Given the description of an element on the screen output the (x, y) to click on. 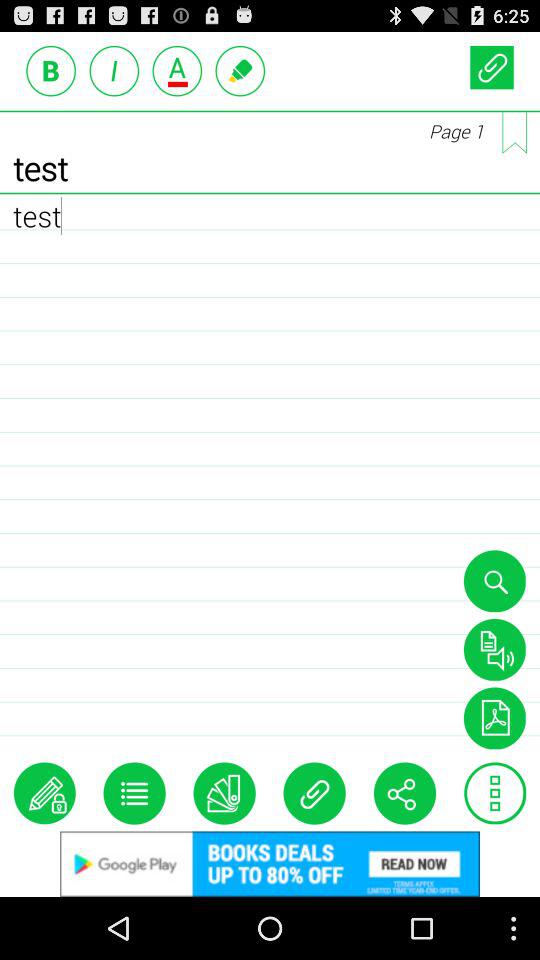
short link (491, 66)
